Given the description of an element on the screen output the (x, y) to click on. 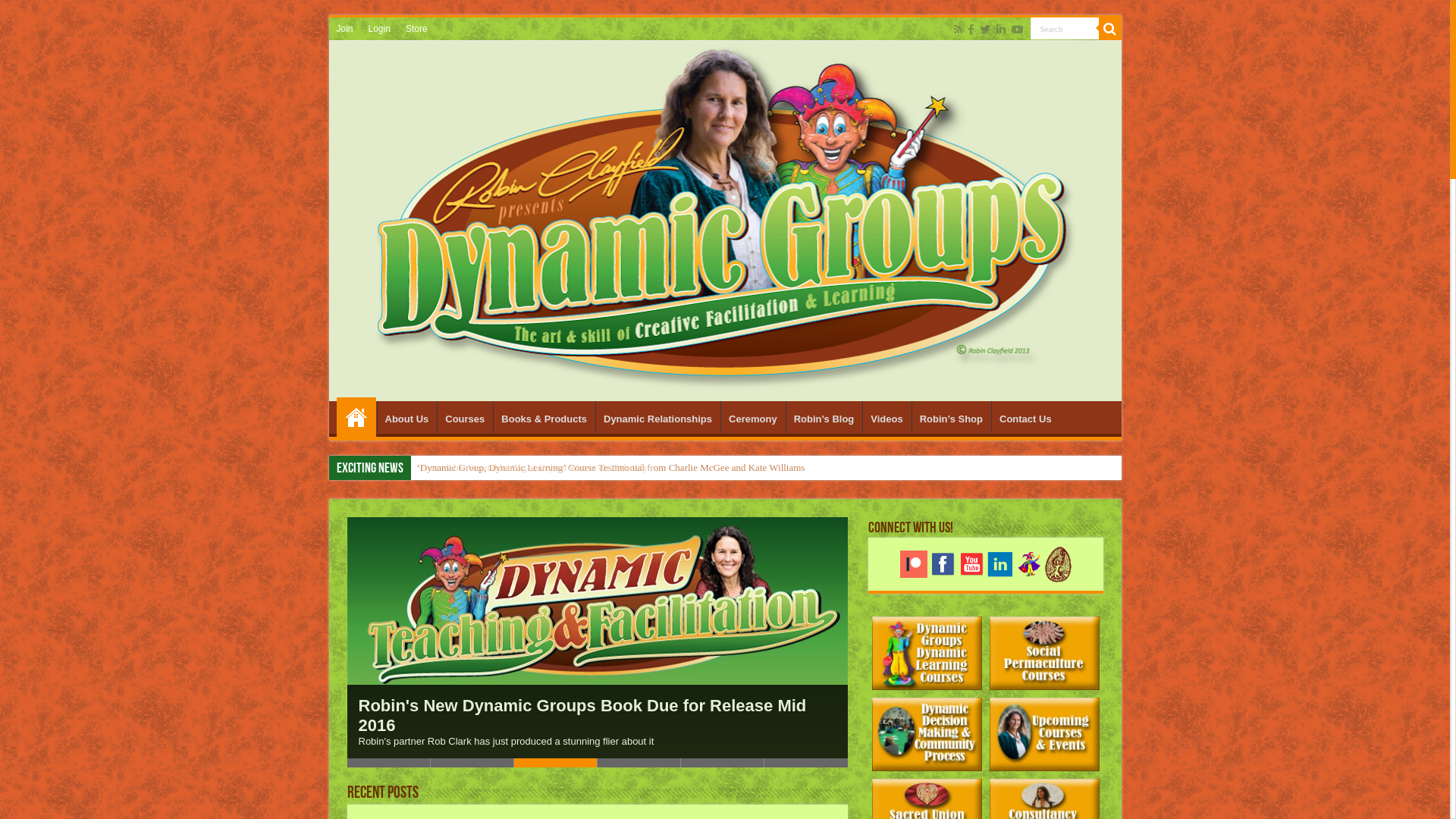
3 Element type: text (555, 763)
LinkEdin Element type: hover (999, 562)
LinkedIn Element type: hover (1000, 29)
Login Element type: text (379, 28)
Store Element type: text (416, 28)
Dynamic Relationships Element type: text (657, 417)
Twitter Element type: hover (984, 29)
2 Element type: text (472, 763)
Courses Element type: text (464, 417)
LinkEdin Element type: hover (999, 563)
Facebook Element type: hover (970, 29)
Youtube Element type: hover (971, 562)
Youtube Element type: hover (1017, 29)
Books & Products Element type: text (543, 417)
6 Element type: text (805, 763)
Youtube Element type: hover (970, 563)
About Us Element type: text (406, 417)
Rss Element type: hover (957, 29)
1 Element type: text (388, 763)
Facebook Element type: hover (941, 563)
5 Element type: text (722, 763)
Search Element type: text (1109, 28)
Dynamic Groups Newsletter Element type: hover (1028, 562)
Facebook Element type: hover (942, 562)
4 Element type: text (638, 763)
Permaculture Newsletter Element type: hover (1056, 564)
Videos Element type: text (886, 417)
Robins Patreon Page Element type: hover (913, 562)
Permaculture Newsletter Element type: hover (1057, 562)
Home Element type: text (356, 416)
Robins Patreon Page Element type: hover (912, 563)
Search Element type: hover (1063, 28)
Dynamic Groups, Dynamic Learning Element type: hover (725, 220)
Dynamic Groups Newsletter Element type: hover (1027, 563)
Join Element type: text (344, 28)
Ceremony Element type: text (752, 417)
Contact Us Element type: text (1025, 417)
